Given the description of an element on the screen output the (x, y) to click on. 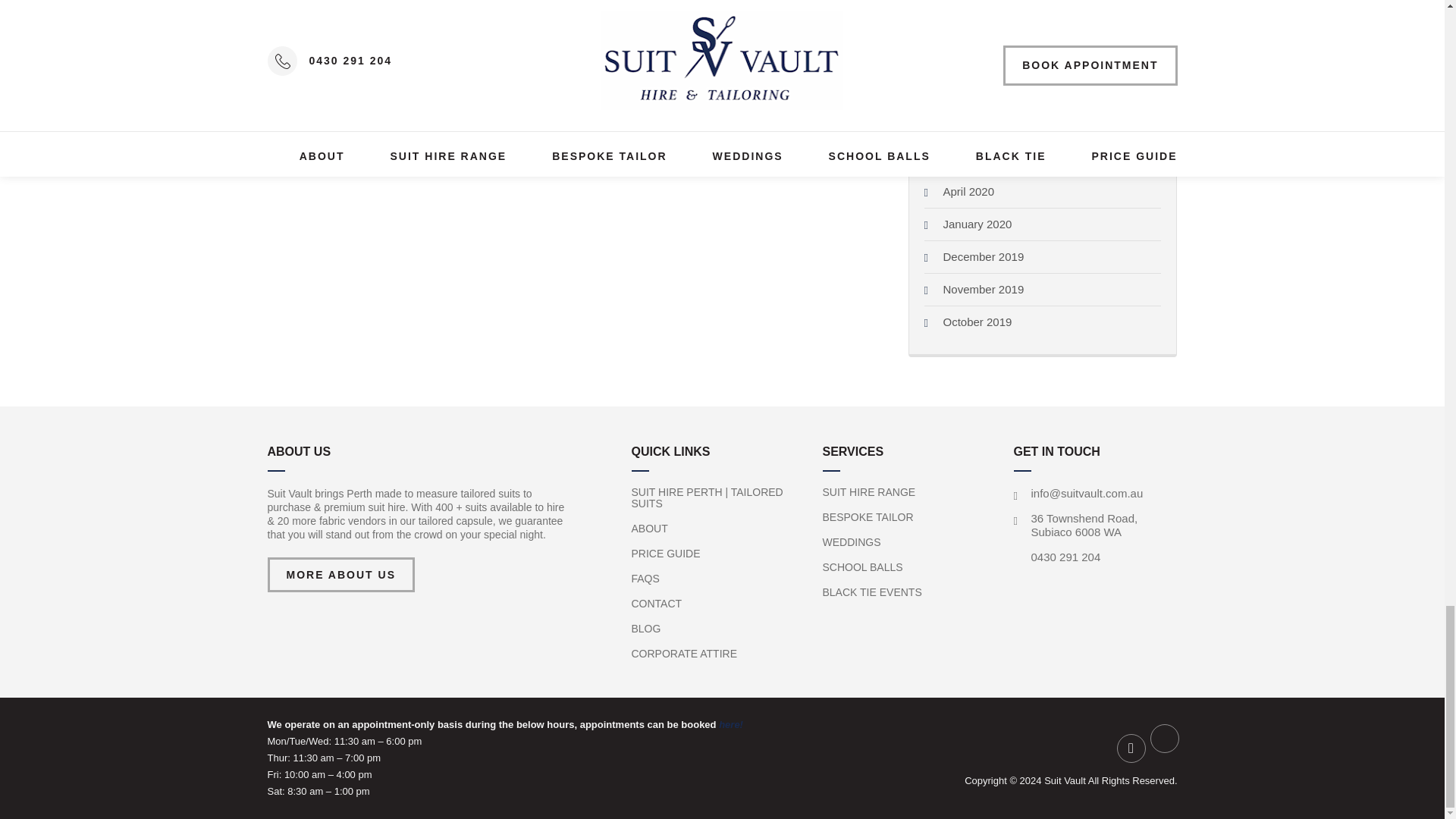
Submit Comment (331, 29)
Submit Comment (331, 29)
